Given the description of an element on the screen output the (x, y) to click on. 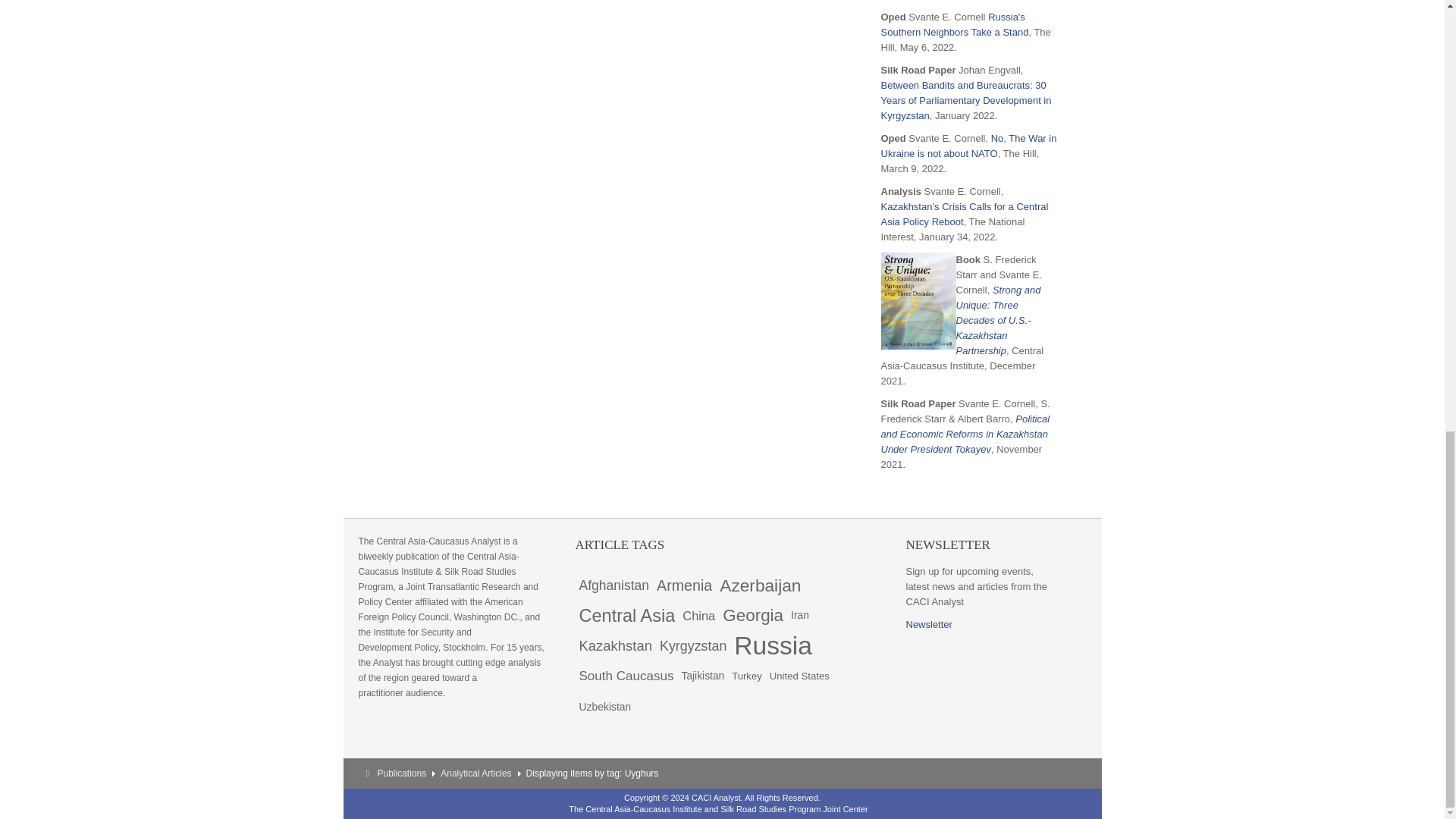
Azerbaijan (760, 585)
70 items tagged with Tajikistan (702, 675)
139 items tagged with Armenia (684, 585)
303 items tagged with Russia (772, 645)
114 items tagged with Afghanistan (613, 585)
125 items tagged with Kazakhstan (615, 645)
102 items tagged with China (698, 615)
Armenia (684, 585)
Russia's Southern Neighbors Take a Stand (954, 24)
118 items tagged with Kyrgyzstan (693, 645)
62 items tagged with Turkey (746, 675)
109 items tagged with South Caucasus (626, 675)
175 items tagged with Azerbaijan (760, 585)
